Given the description of an element on the screen output the (x, y) to click on. 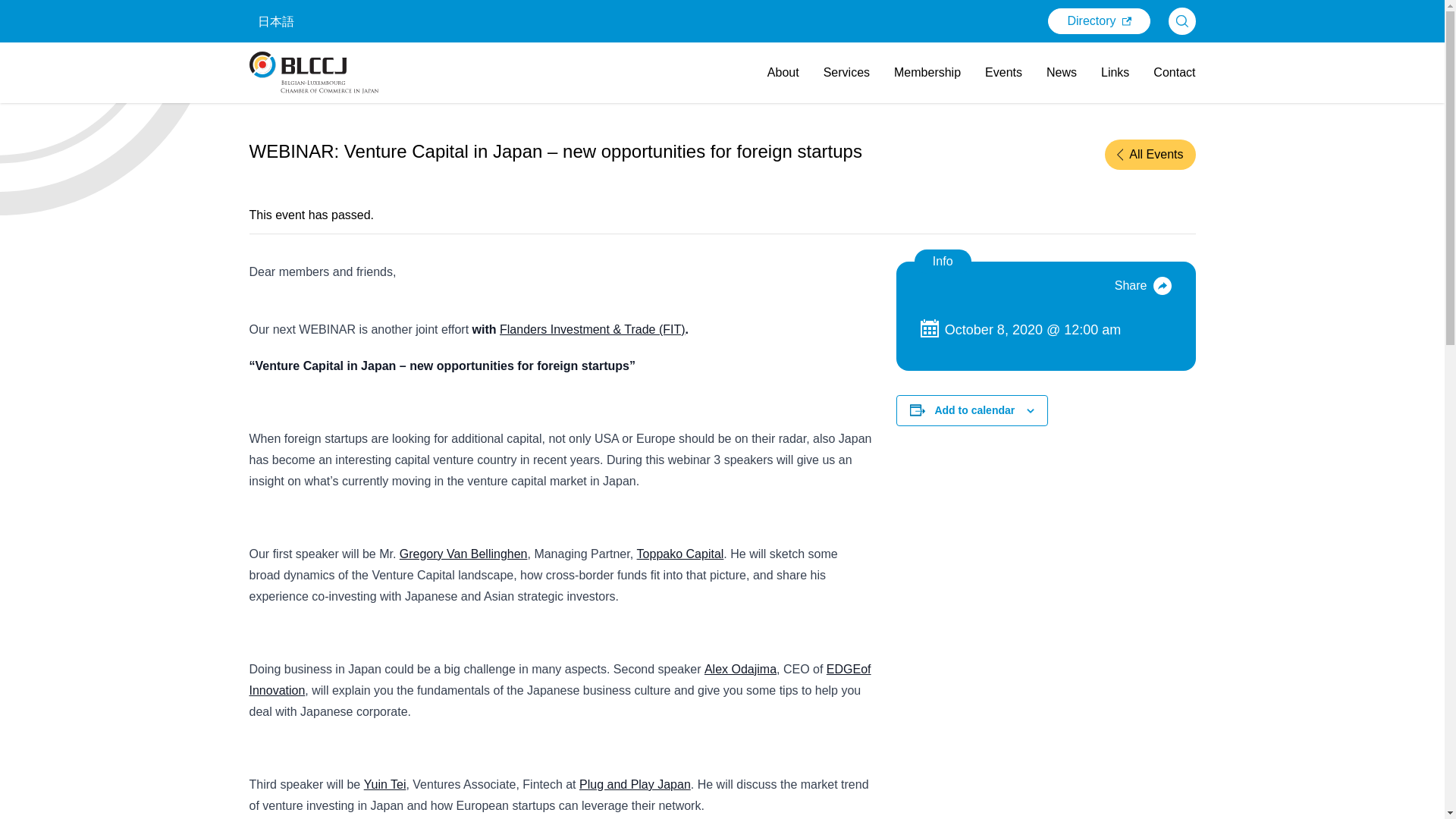
Gregory Van Bellinghen (462, 553)
Contact (1174, 72)
Links (1115, 72)
Toppako Capital (680, 553)
Events (1002, 72)
Alex Odajima (740, 668)
Services (846, 72)
EDGEof Innovation (559, 679)
Directory (1099, 21)
All Events (1150, 154)
Yuin Tei (385, 784)
News (1061, 72)
About (782, 72)
Add to calendar (974, 410)
Plug and Play Japan (634, 784)
